Given the description of an element on the screen output the (x, y) to click on. 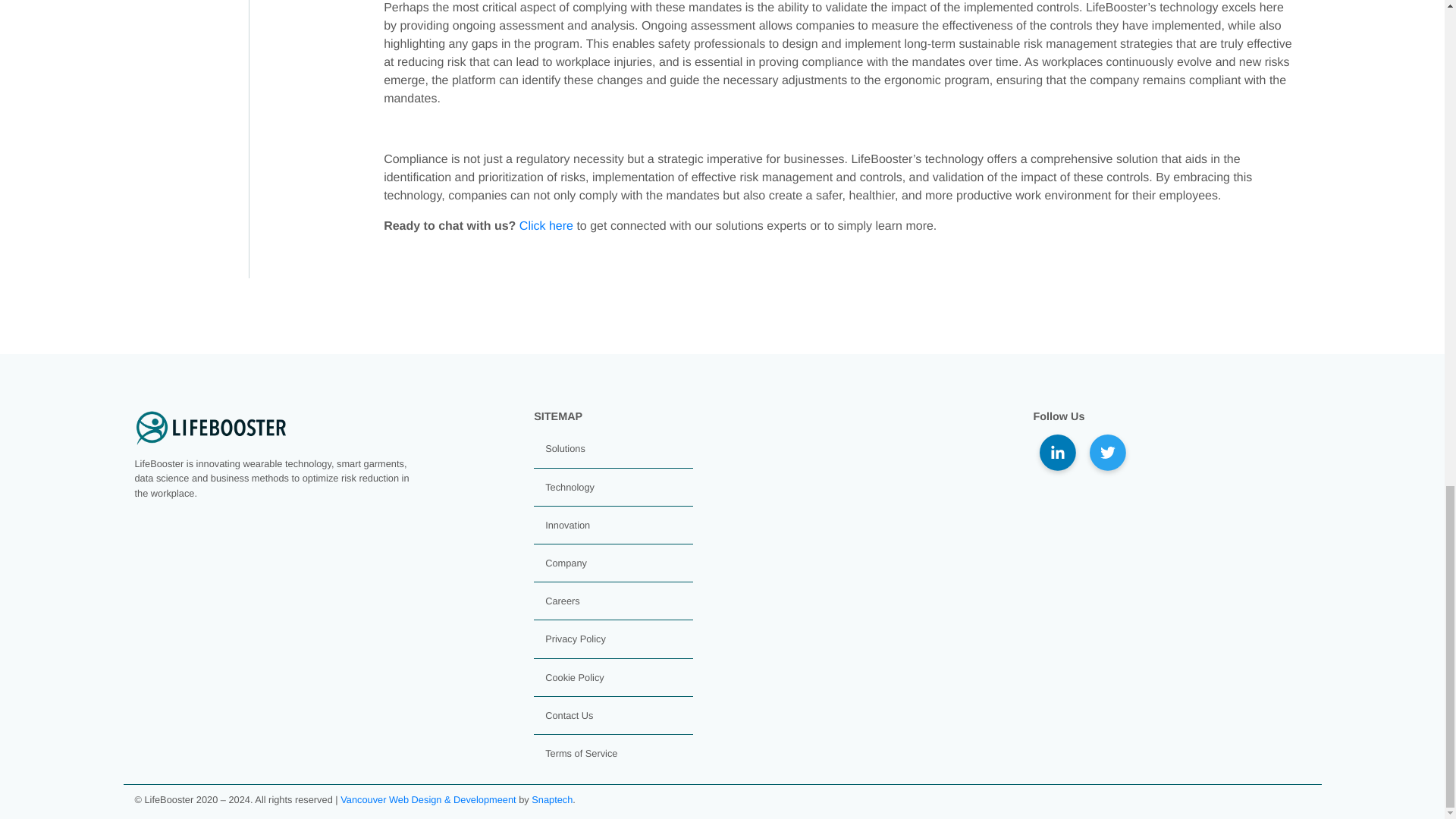
Cookie Policy (574, 677)
Click here (546, 226)
Careers (561, 600)
Solutions (564, 448)
Contact Us (568, 715)
Company (565, 562)
Innovation (566, 524)
Privacy Policy (574, 638)
Terms of Service (580, 753)
Technology (569, 487)
Snaptech (551, 799)
